Given the description of an element on the screen output the (x, y) to click on. 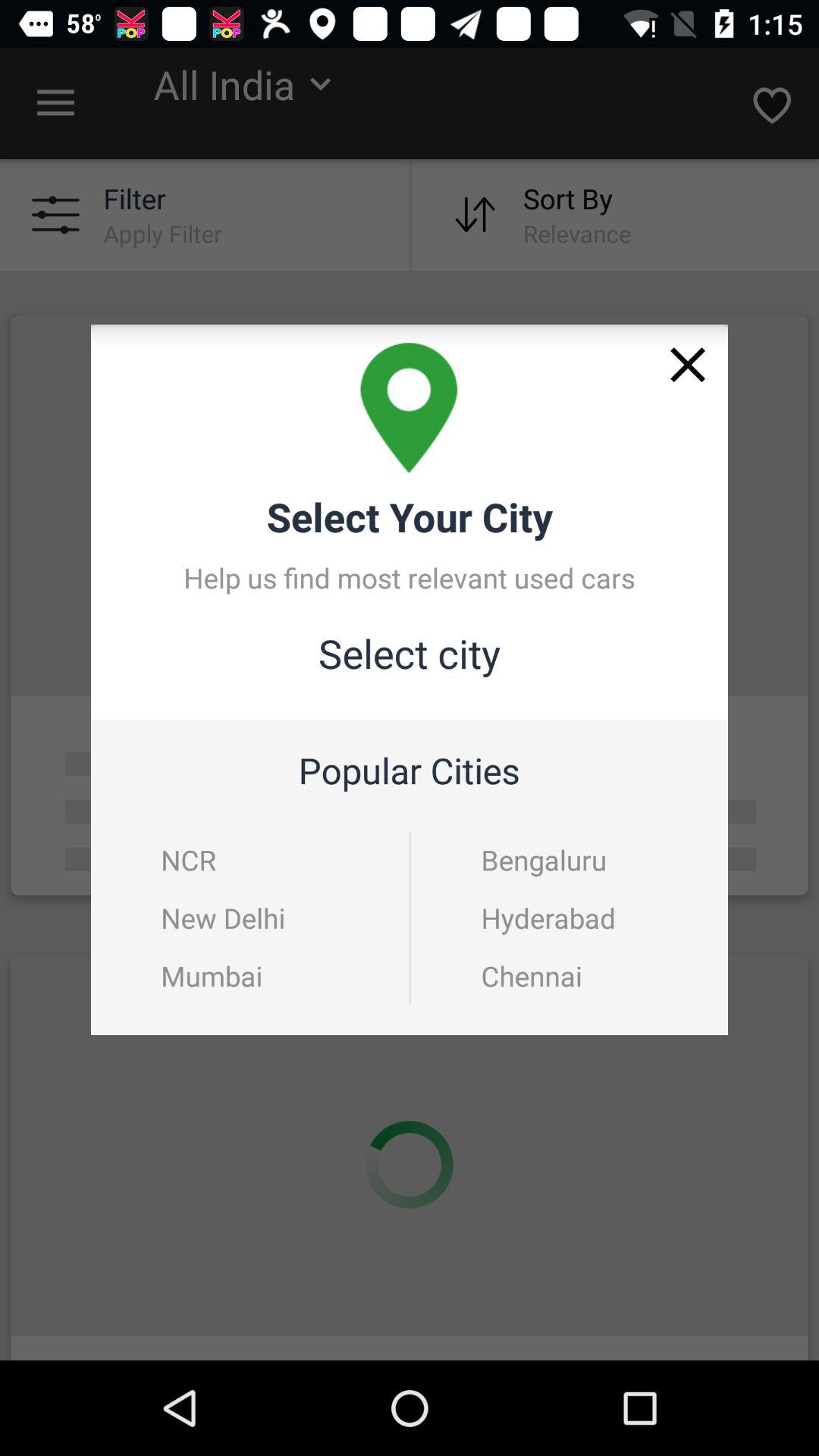
launch item below select city item (188, 859)
